Given the description of an element on the screen output the (x, y) to click on. 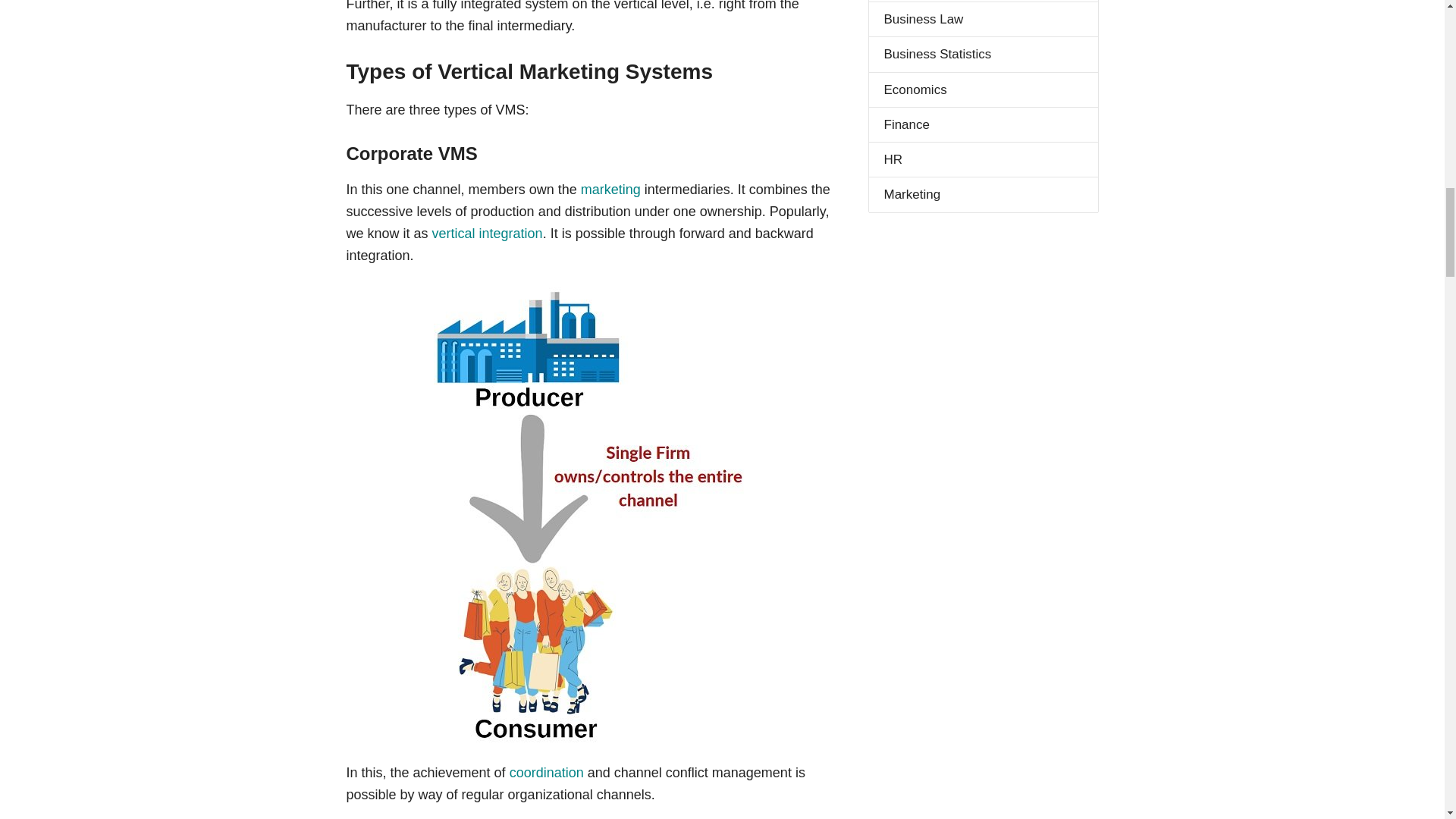
marketing (610, 189)
coordination (546, 772)
vertical integration (487, 233)
